Given the description of an element on the screen output the (x, y) to click on. 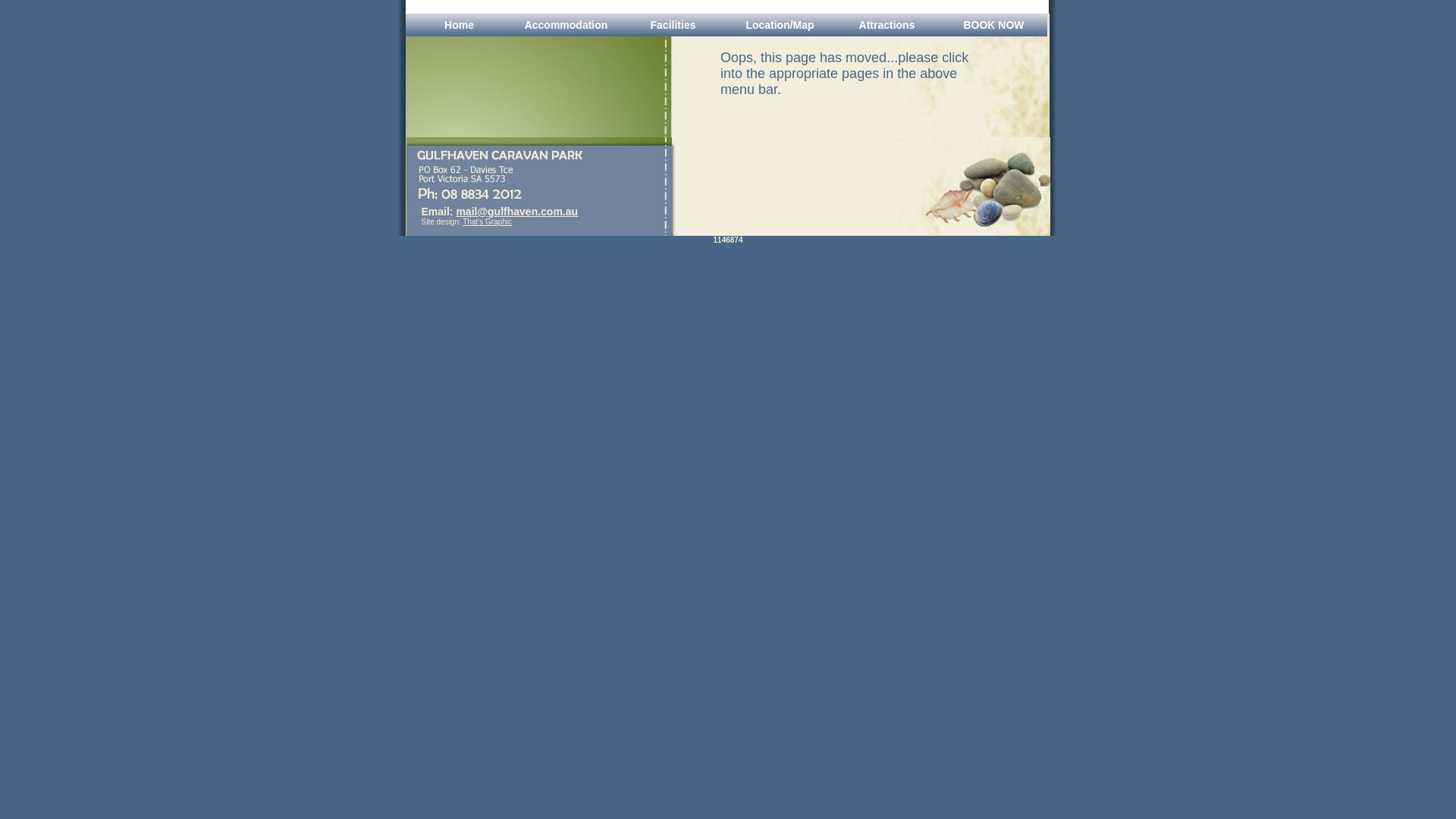
Facilities Element type: text (672, 24)
mail@gulfhaven.com.au Element type: text (516, 211)
BOOK NOW Element type: text (993, 24)
Attractions Element type: text (886, 24)
Home Element type: text (458, 24)
That's Graphic Element type: text (486, 221)
Location/Map Element type: text (779, 24)
Accommodation Element type: text (565, 24)
